Given the description of an element on the screen output the (x, y) to click on. 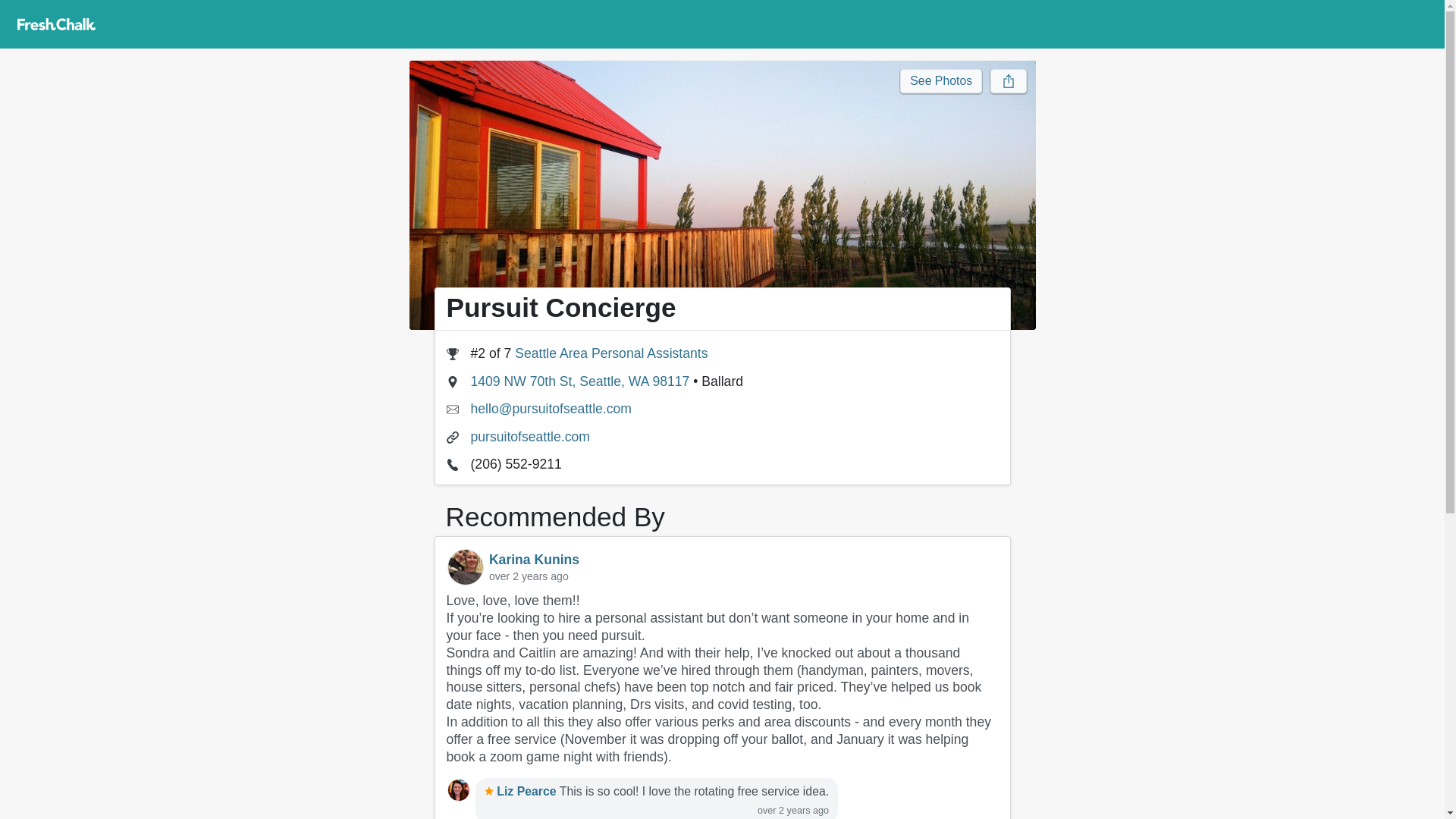
Karina Kunins (464, 566)
Liz Pearce (520, 790)
Karina Kunins (534, 559)
1409 NW 70th St, Seattle, WA 98117 (579, 381)
Share (1008, 80)
pursuitofseattle.com (529, 436)
Liz Pearce (458, 789)
Seattle Area Personal Assistants (611, 353)
